Given the description of an element on the screen output the (x, y) to click on. 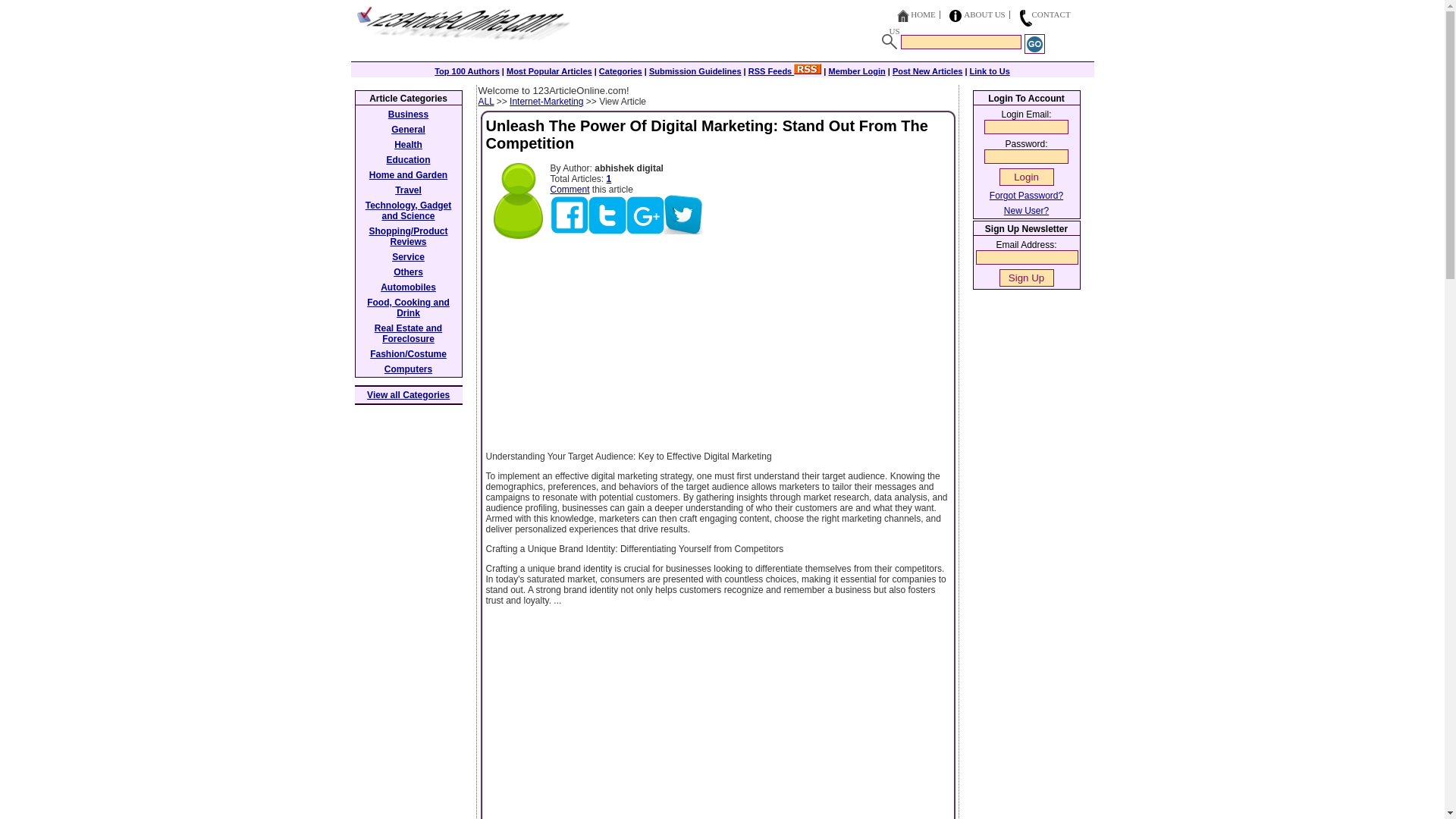
Most Popular Articles (549, 71)
Top 100 Authors (466, 71)
ALL (485, 101)
Submission Guidelines (695, 71)
Internet-Marketing (546, 101)
Categories (620, 71)
Comment (569, 189)
